Given the description of an element on the screen output the (x, y) to click on. 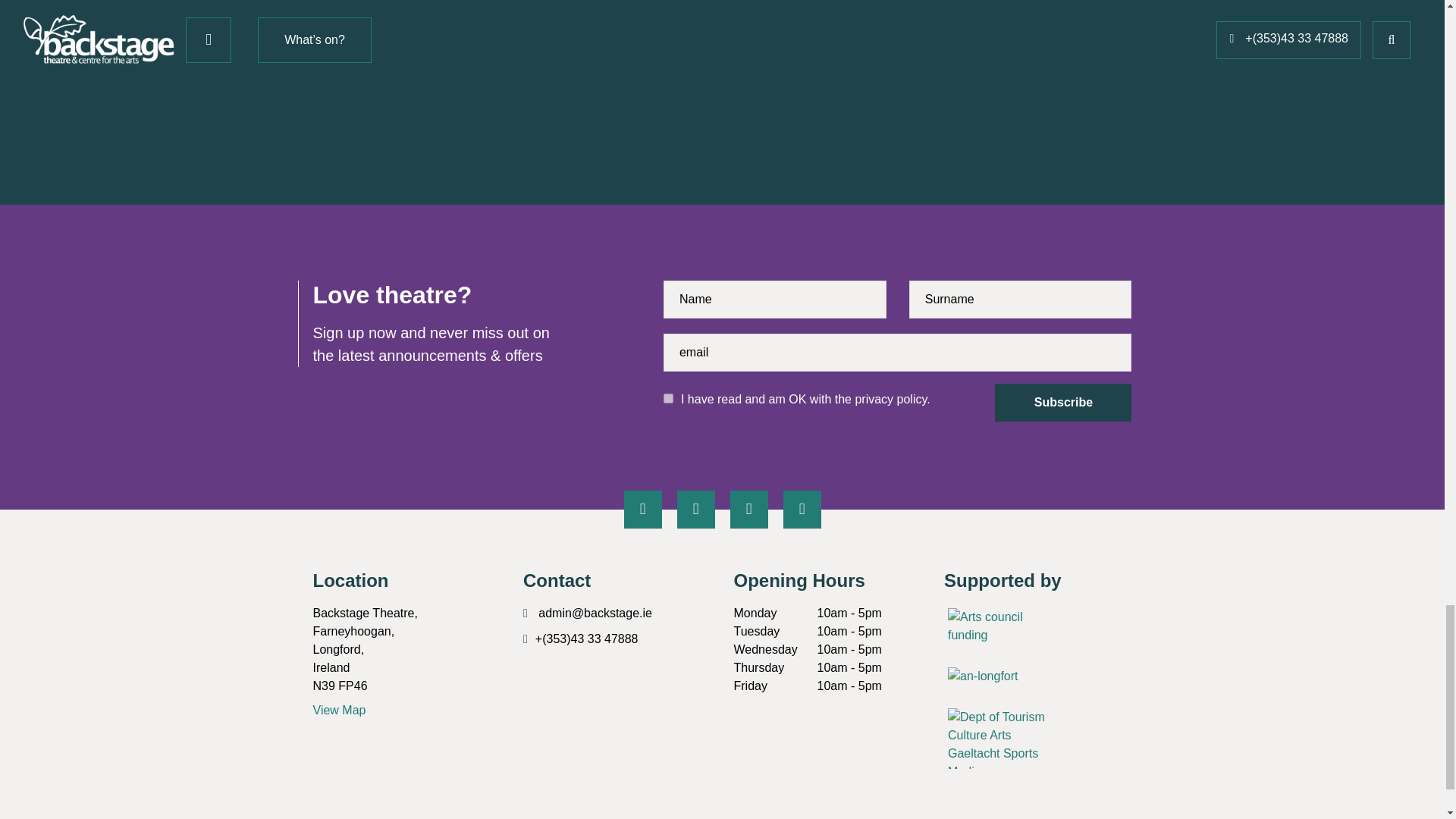
1 (667, 398)
Subscribe (1062, 402)
Subscribe (1062, 402)
